Given the description of an element on the screen output the (x, y) to click on. 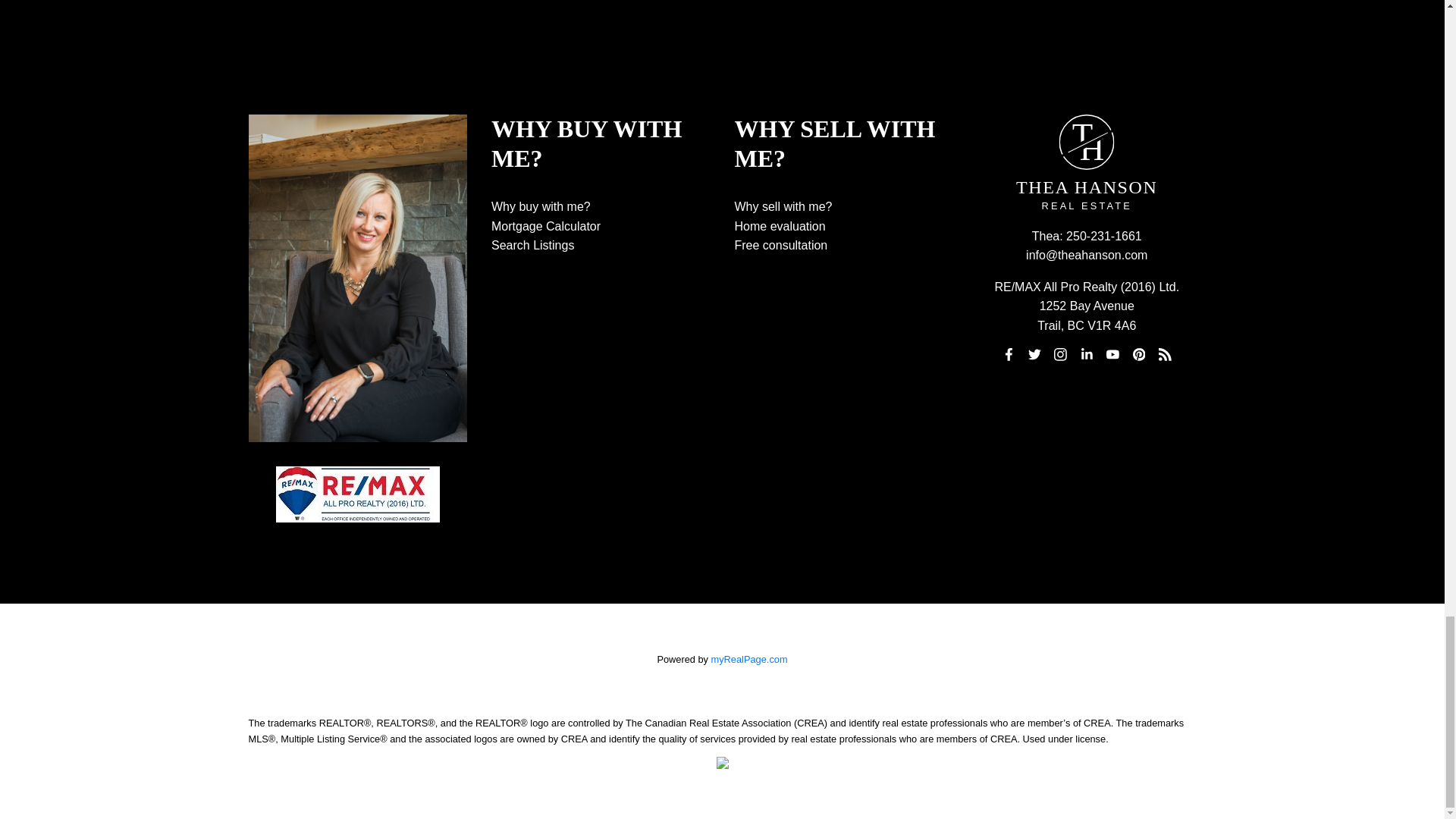
Blog (1164, 354)
Facebook (1008, 354)
Twitter (1034, 354)
instagram (1060, 354)
linkedin (1086, 354)
YouTube (1113, 354)
Pinterest (1139, 354)
